Given the description of an element on the screen output the (x, y) to click on. 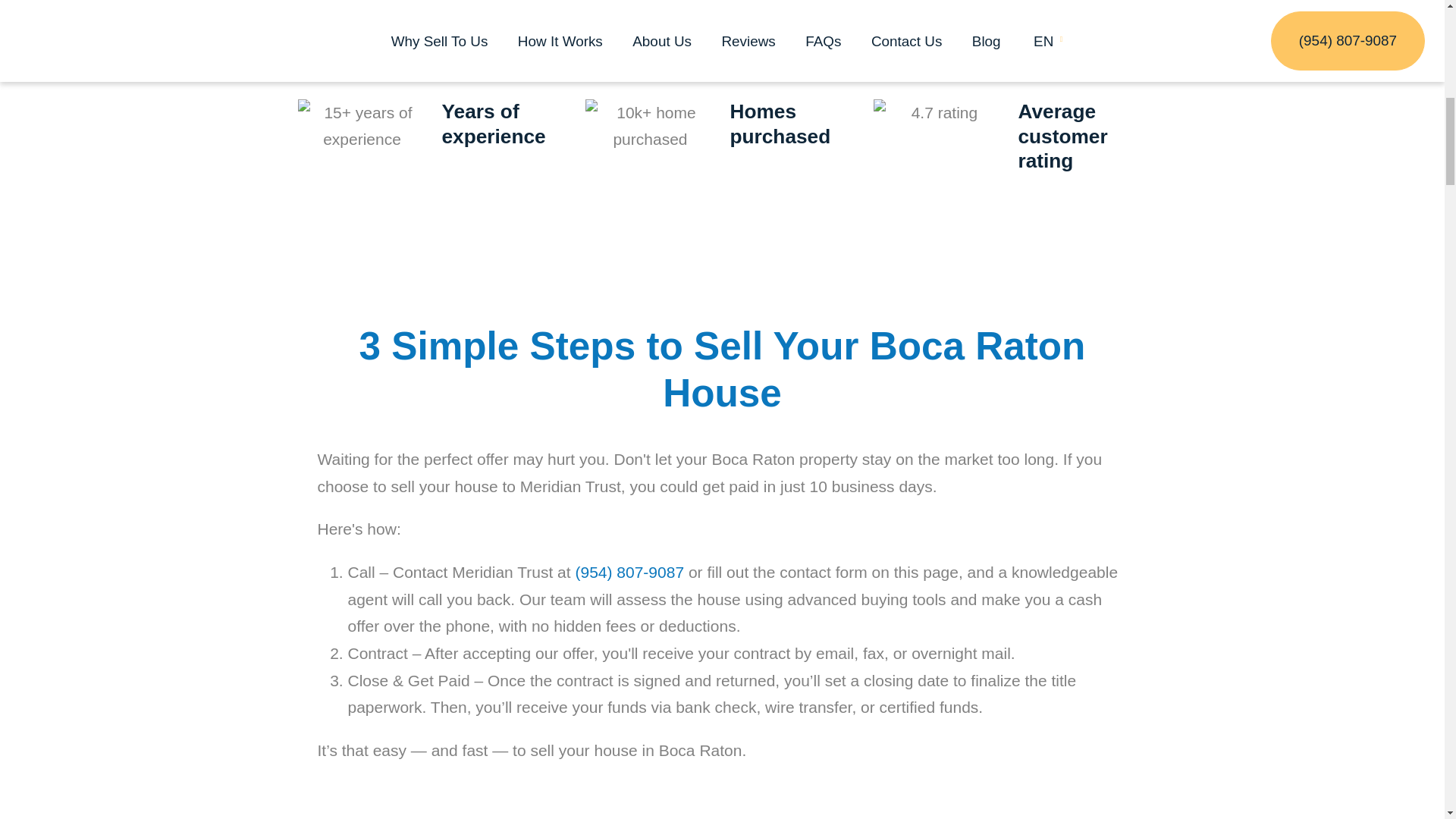
FLORIDA (362, 22)
HOME (189, 22)
LOCATIONS (270, 22)
